Given the description of an element on the screen output the (x, y) to click on. 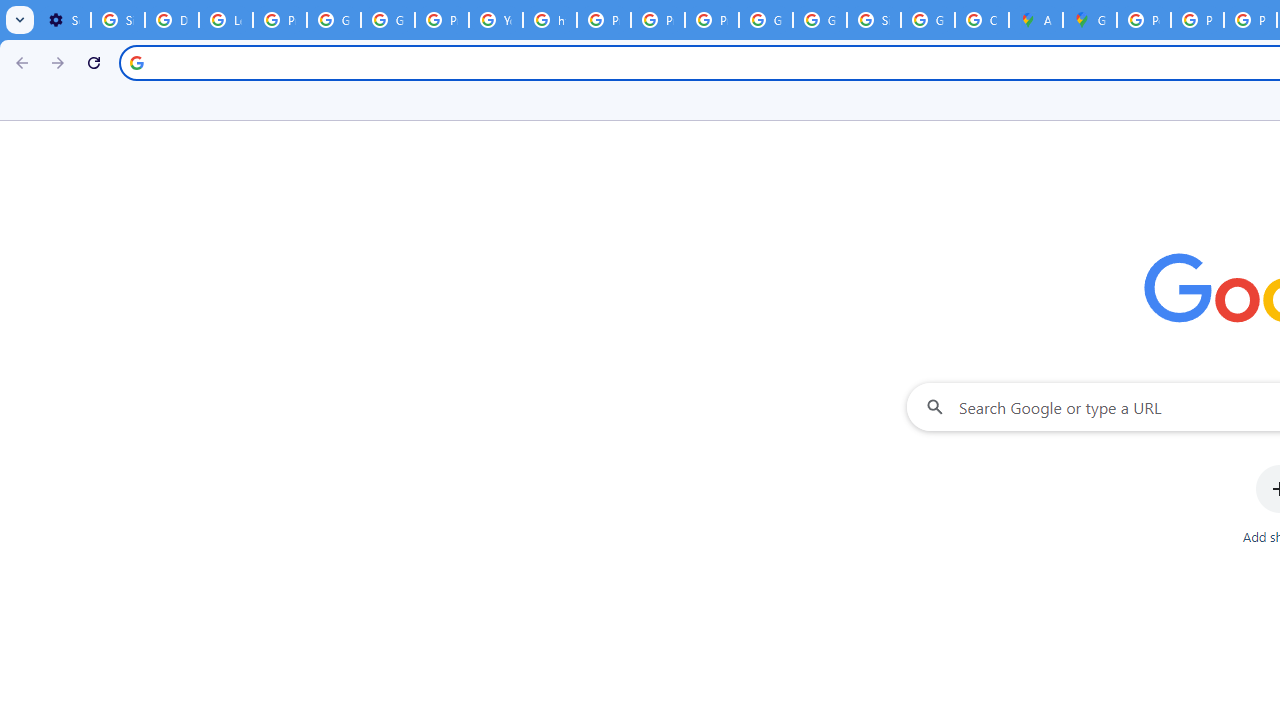
Google Account Help (333, 20)
Sign in - Google Accounts (117, 20)
Policy Accountability and Transparency - Transparency Center (1144, 20)
Create your Google Account (981, 20)
YouTube (495, 20)
